Given the description of an element on the screen output the (x, y) to click on. 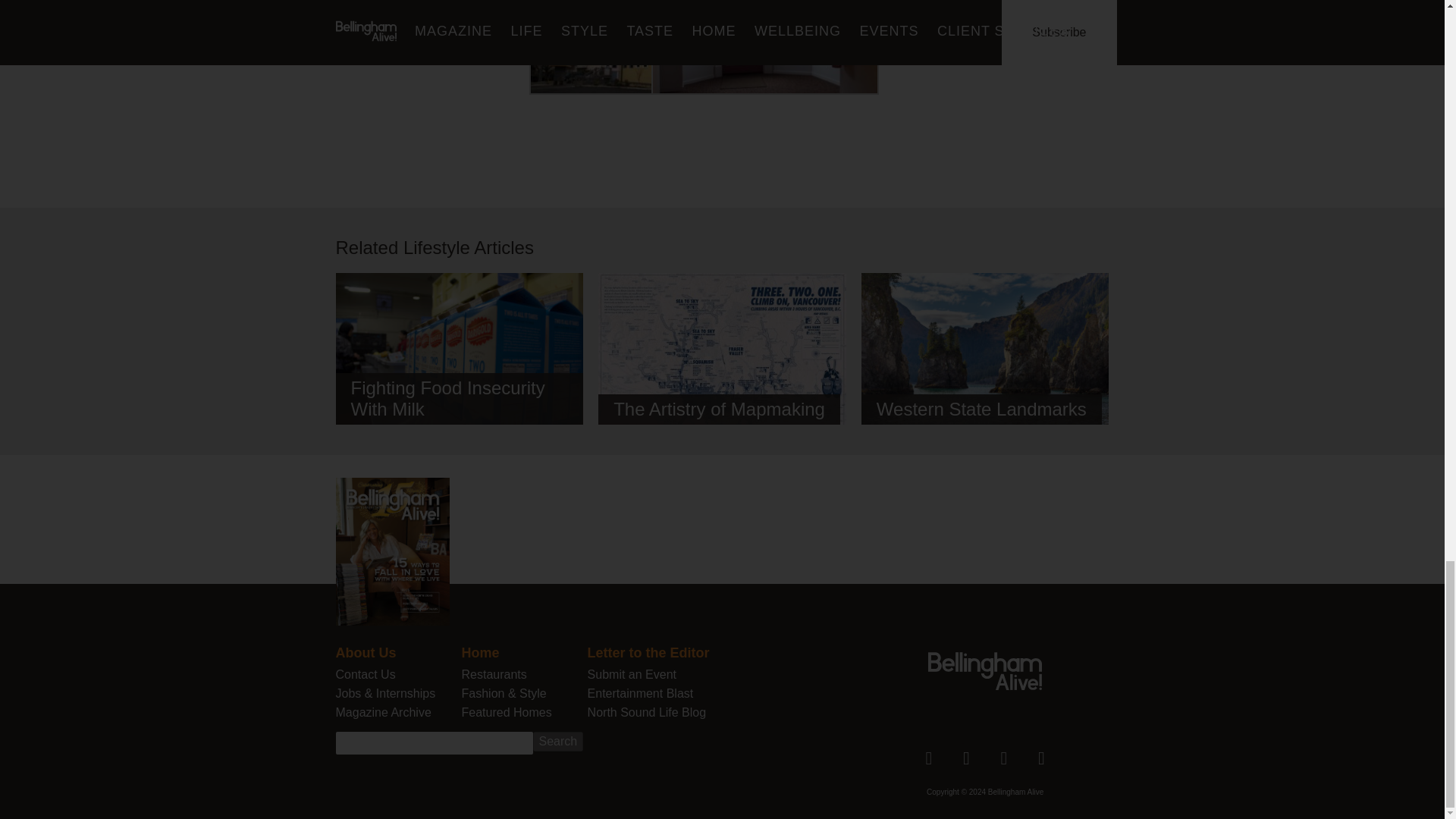
The Artistry of Mapmaking (721, 351)
Fighting Food Insecurity With Milk (458, 357)
Western State Landmarks (985, 357)
